Given the description of an element on the screen output the (x, y) to click on. 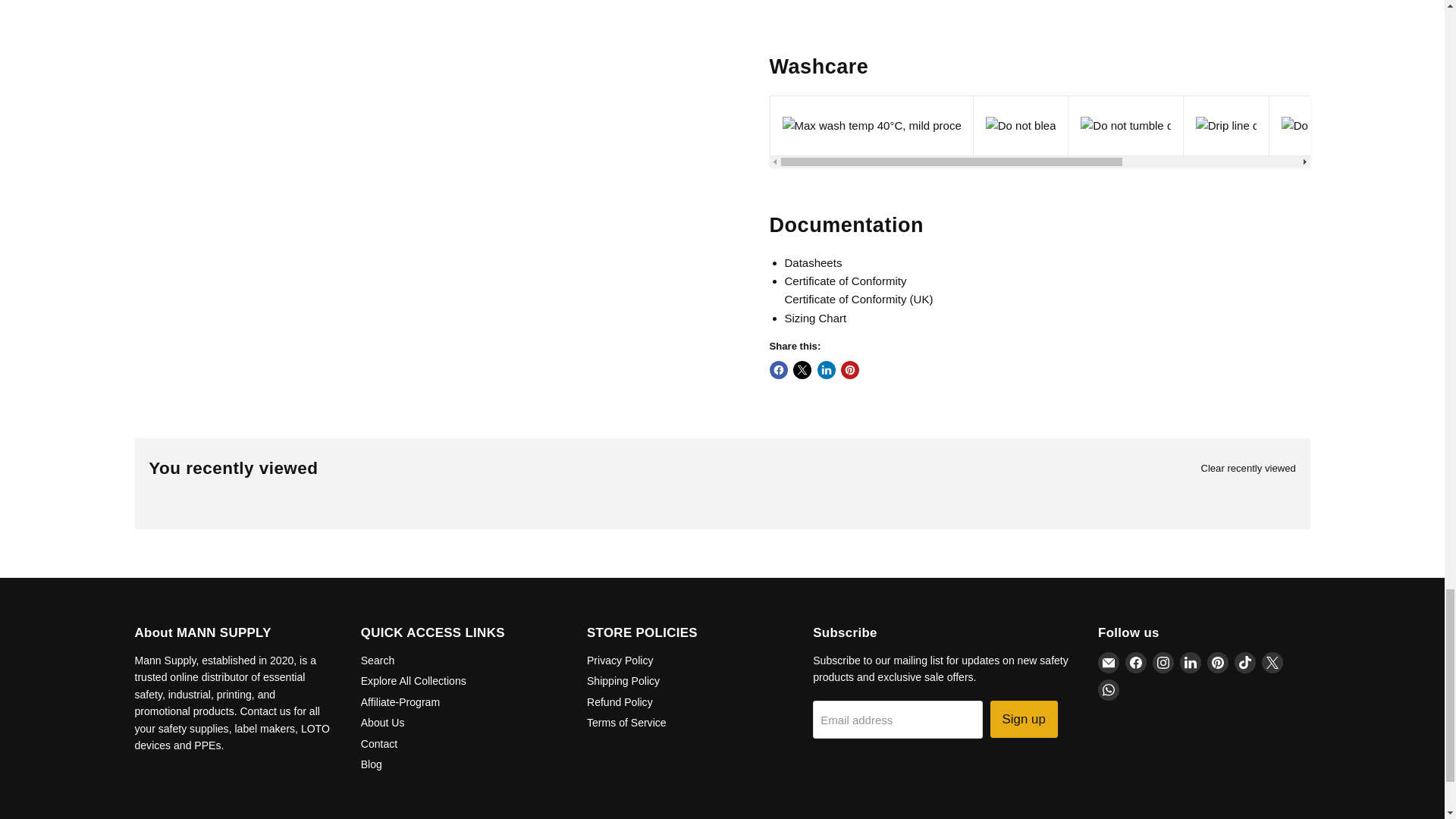
Do not bleach (1021, 126)
Pinterest (1217, 662)
Drip line dry (1225, 126)
Instagram (1163, 662)
LinkedIn (1190, 662)
Do not iron (1308, 126)
Do not tumble dry (1125, 126)
Facebook (1136, 662)
Email (1108, 662)
